Given the description of an element on the screen output the (x, y) to click on. 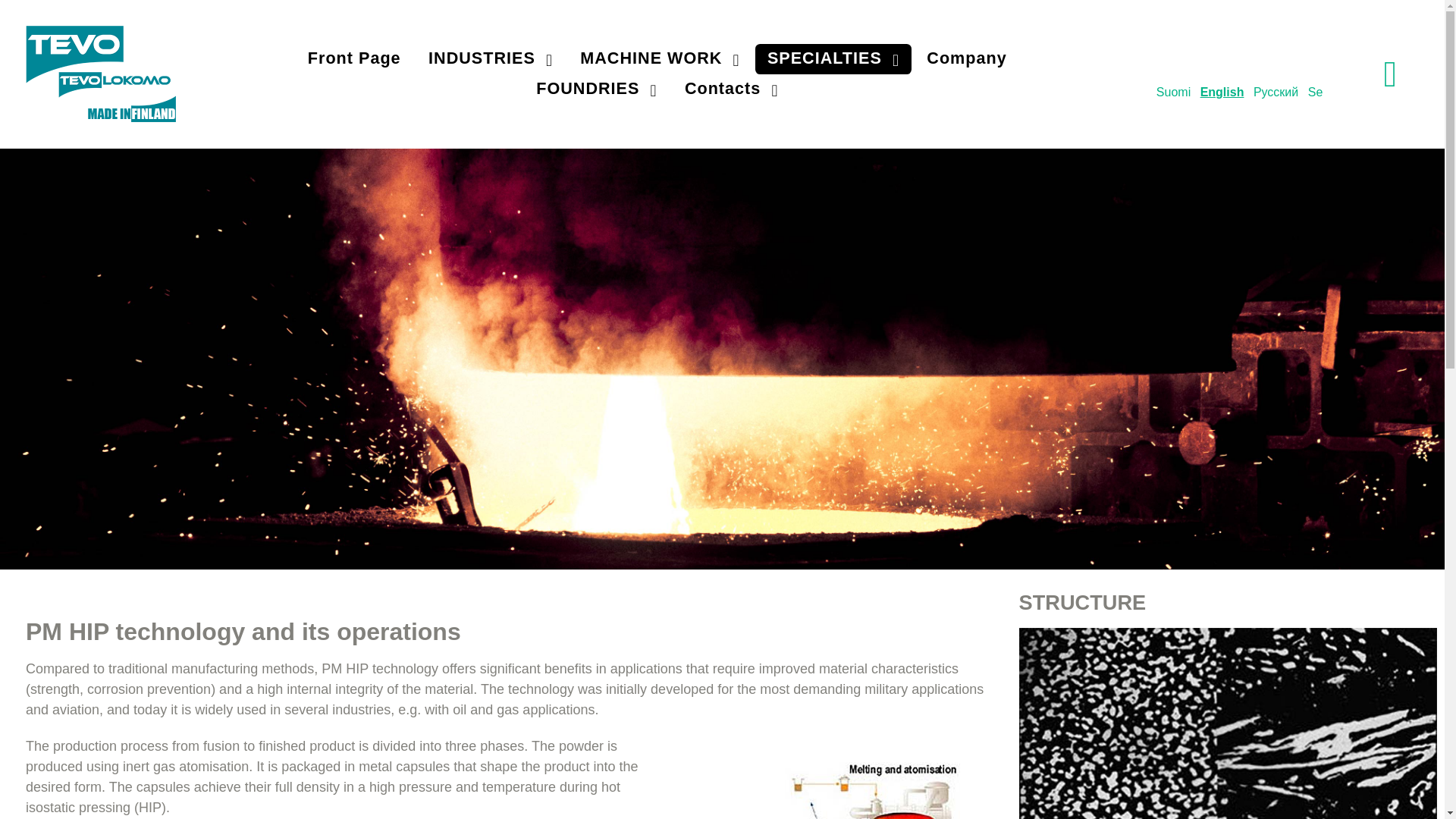
Company (965, 59)
INDUSTRIES (490, 59)
MACHINE WORK (659, 59)
SPECIALTIES (833, 59)
TEVO oy TEVO LOKOMO oy (101, 71)
Se (1315, 91)
Contacts (731, 89)
Suomi (1173, 91)
Front Page (354, 59)
English (1221, 91)
